Given the description of an element on the screen output the (x, y) to click on. 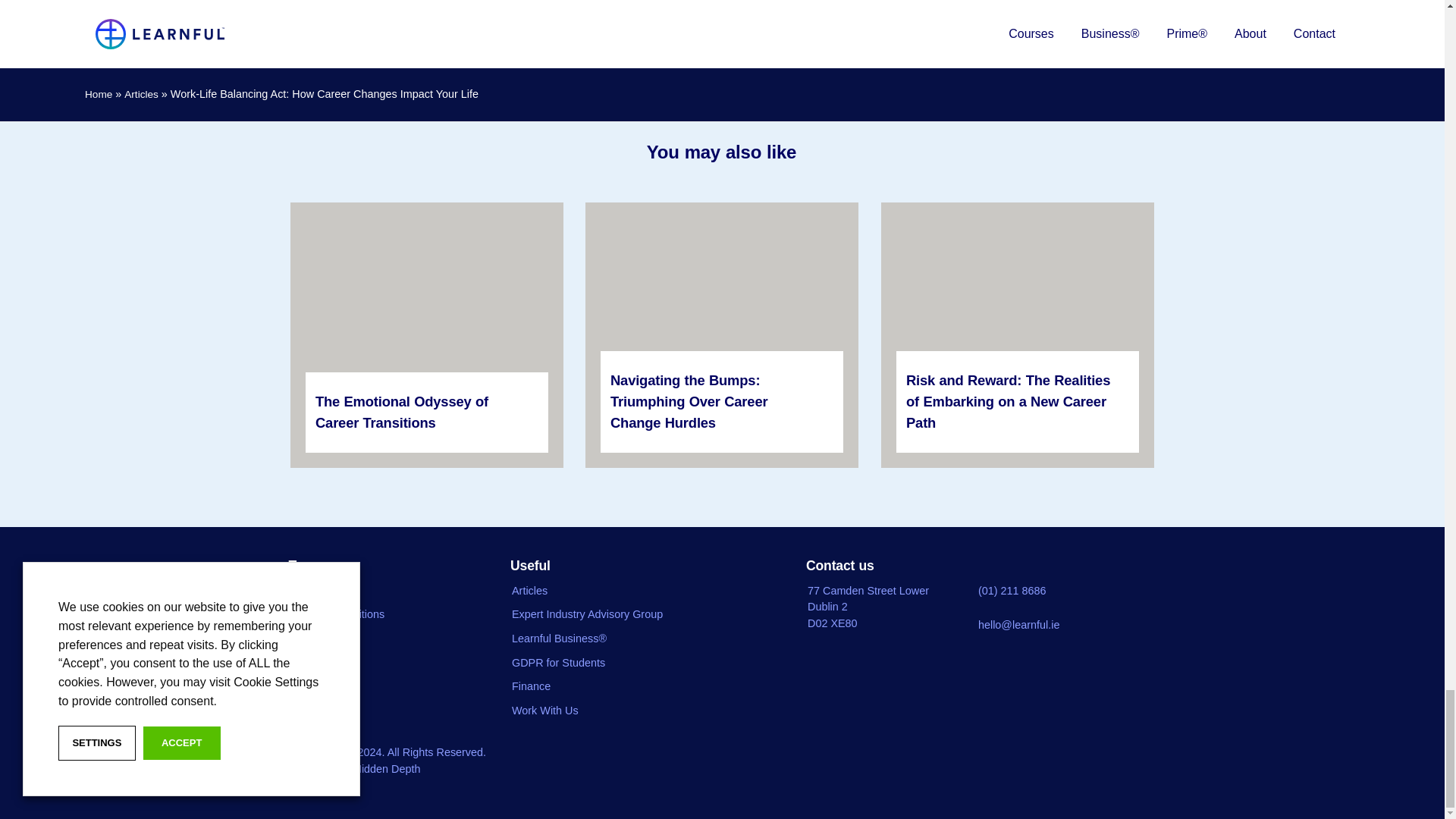
Work With Us (609, 710)
Refund Policy (386, 638)
Follow us on Twitter (853, 680)
The Emotional Odyssey of Career Transitions (425, 334)
Designed by Hidden Depth (354, 768)
Expert Industry Advisory Group (609, 614)
Cookies (386, 663)
Disclaimer (386, 591)
Follow us on LinkedIn (817, 680)
Privacy Policy (386, 686)
Like us on Facebook (891, 680)
GDPR for Students (609, 663)
Follow us on Instagram (927, 680)
Finance (609, 686)
Navigating the Bumps: Triumphing Over Career Change Hurdles (722, 334)
